Given the description of an element on the screen output the (x, y) to click on. 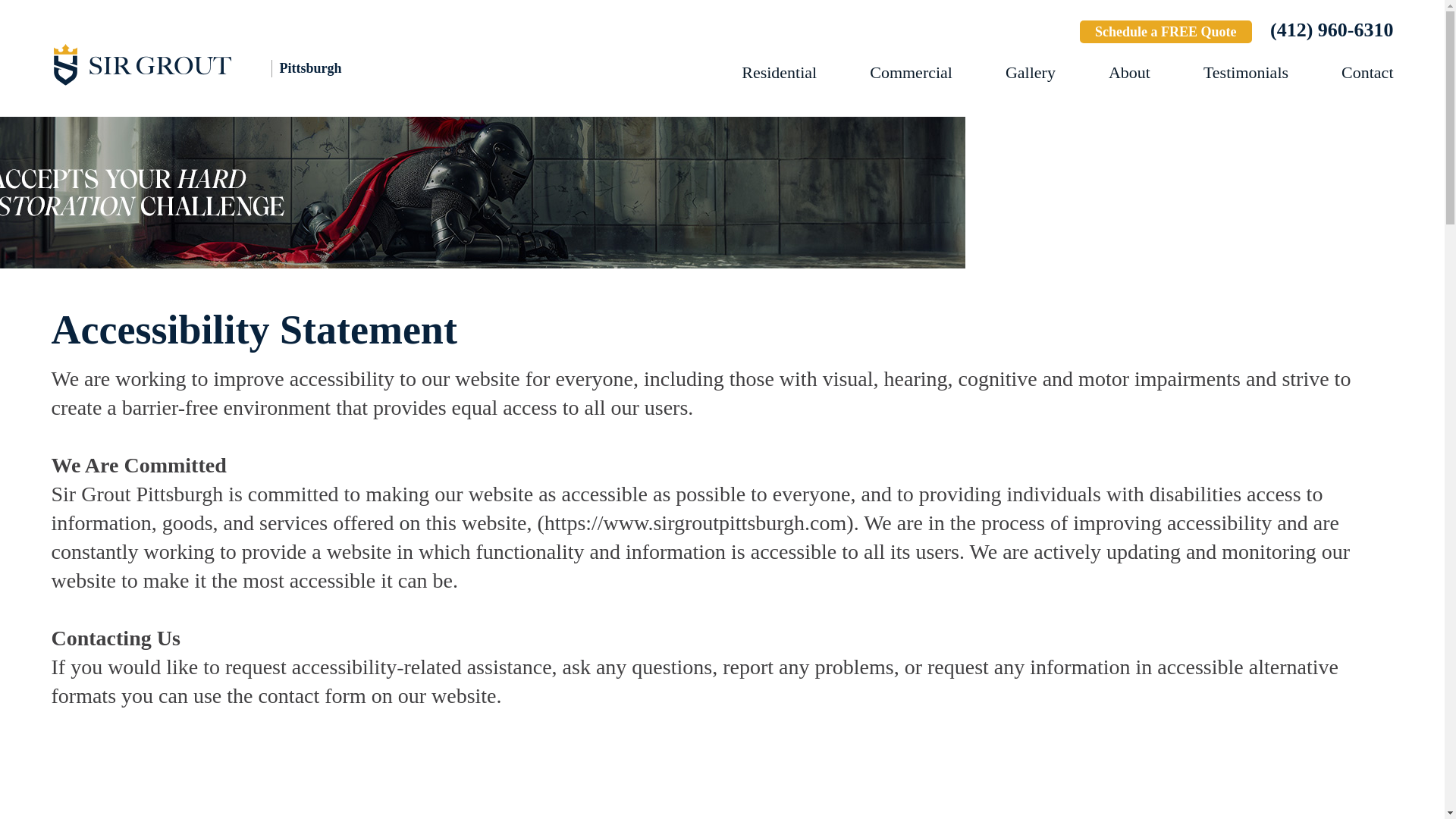
Gallery (1030, 72)
Sir Grout Pittsburgh (217, 64)
Call Sir Grout Pittsburgh (1331, 29)
Write a Review (1013, 32)
Residential Services (778, 72)
Commercial (910, 72)
Pittsburgh (217, 64)
Schedule a FREE Quote (1166, 31)
About (1129, 72)
Residential (778, 72)
